Given the description of an element on the screen output the (x, y) to click on. 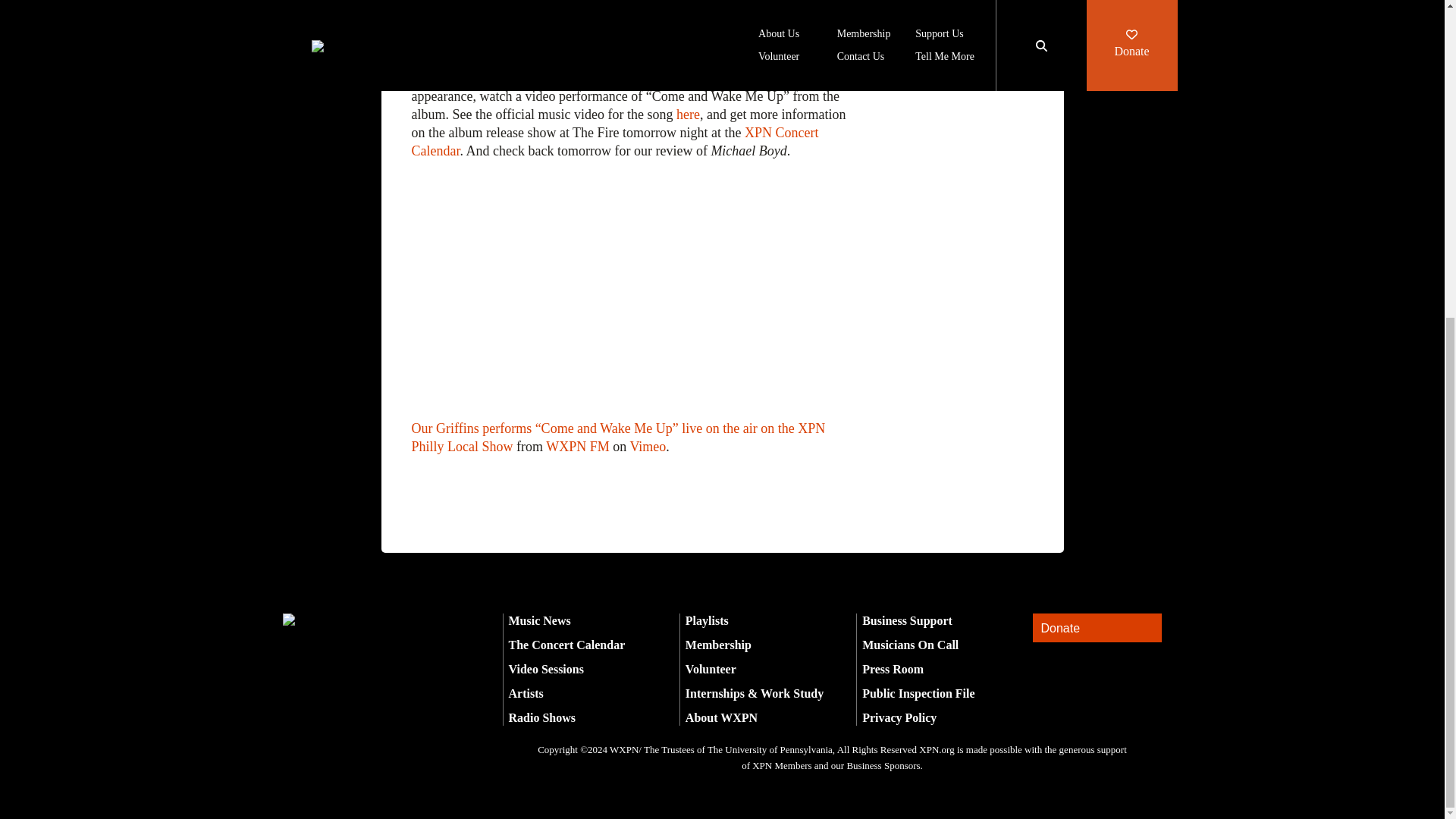
Music News (539, 620)
Donate (1096, 627)
Vimeo (646, 446)
here (584, 41)
Musicians On Call (909, 644)
WXPN FM (578, 446)
Press Room (892, 668)
XPN Concert Calendar (614, 141)
Volunteer (710, 668)
The Concert Calendar (566, 644)
